Given the description of an element on the screen output the (x, y) to click on. 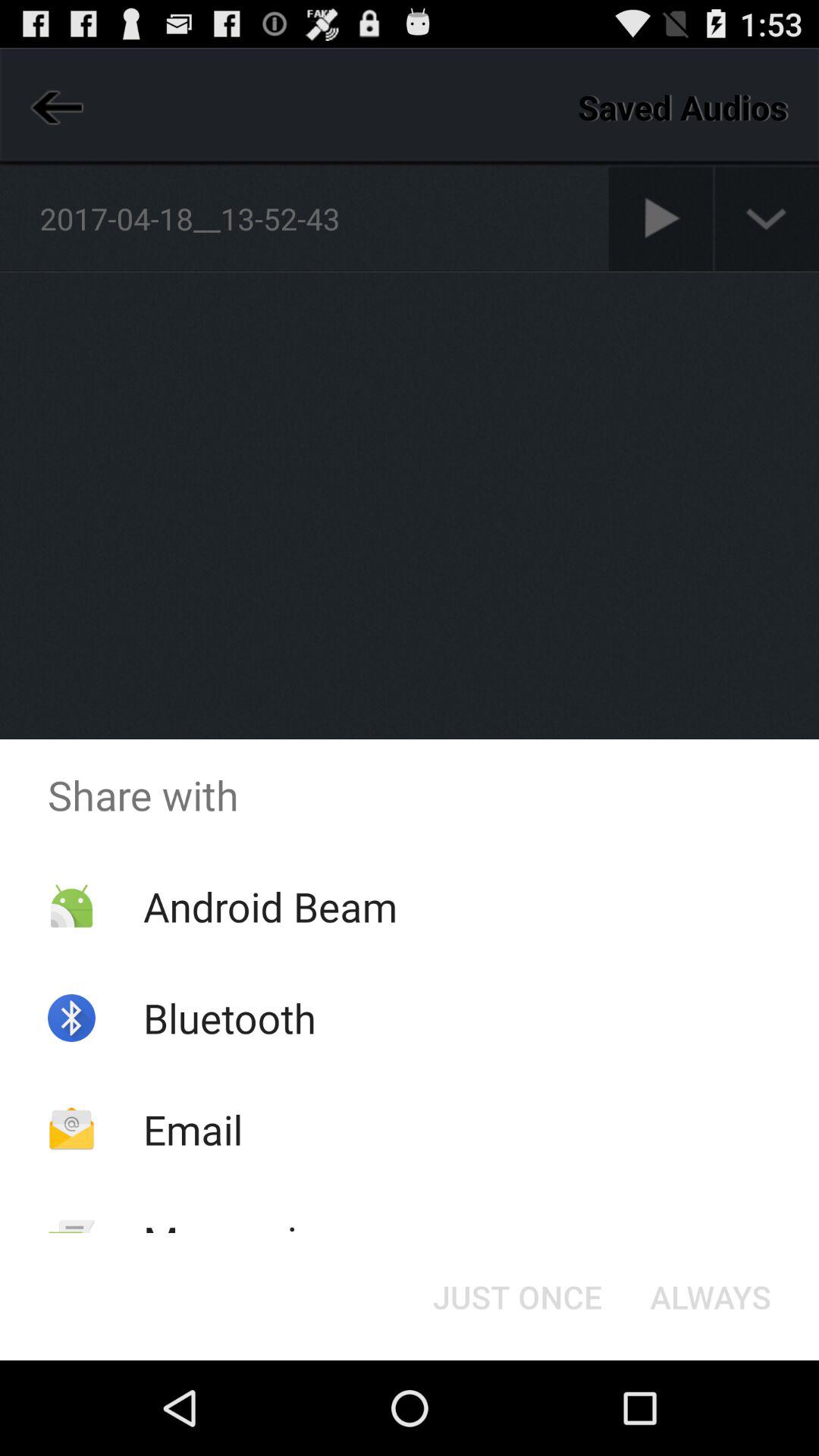
tap the icon below the email item (242, 1240)
